Given the description of an element on the screen output the (x, y) to click on. 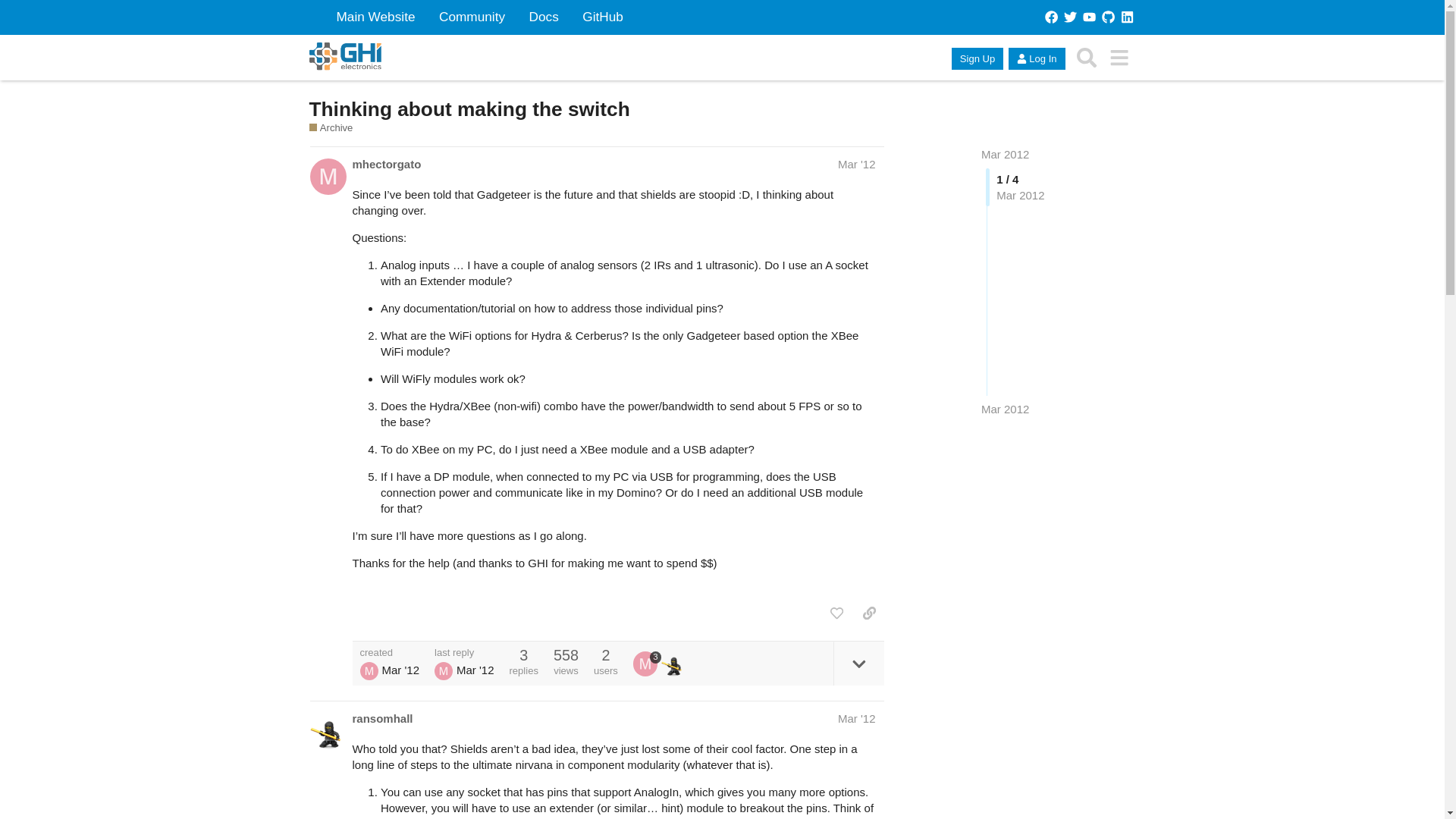
Thinking about making the switch (469, 108)
Mar 2012 (1005, 154)
Mar 3, 2012 11:33 pm (1005, 408)
3 (647, 663)
Community (471, 16)
Docs (543, 16)
Post date (857, 164)
Marten Liebster (368, 670)
Mar '12 (857, 164)
Please sign up or log in to like this post (836, 612)
copy a link to this post to clipboard (869, 612)
Mar 2012 (1005, 154)
Marten Liebster (442, 670)
Mar '12 (857, 717)
menu (1119, 57)
